Given the description of an element on the screen output the (x, y) to click on. 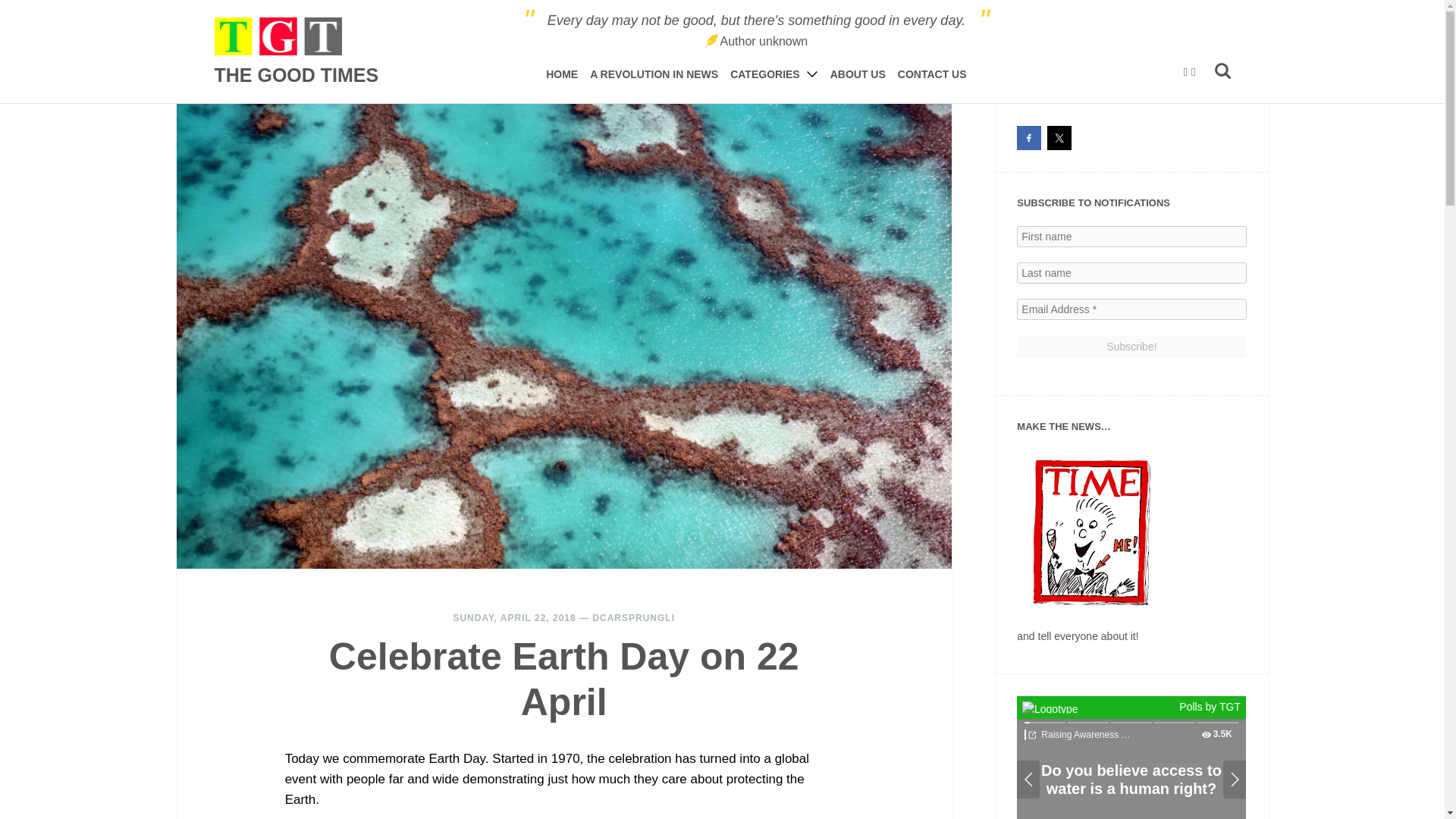
CONTACT US (932, 74)
Posts by dcarsprungli (633, 617)
CATEGORIES (774, 74)
First name (1131, 236)
A REVOLUTION IN NEWS (653, 74)
THE GOOD TIMES (296, 51)
Celebrate Earth Day on 22 April (564, 679)
Last name (1131, 272)
067a41b0-bac5-4590-a399-025325c8ae9c (1131, 757)
Email Address (1131, 309)
